Given the description of an element on the screen output the (x, y) to click on. 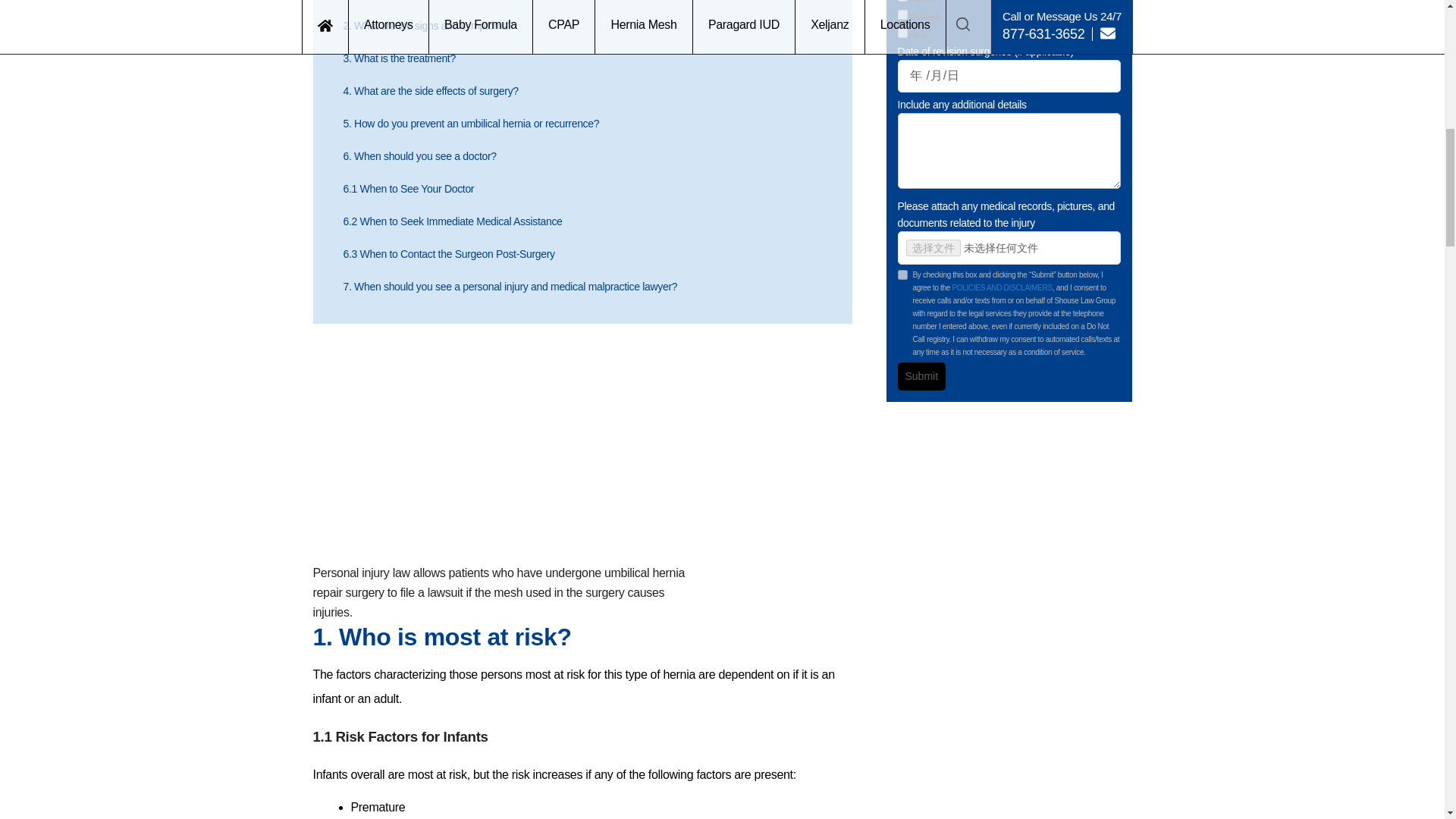
Submit (922, 375)
Other (902, 32)
Submit (716, 143)
1 (902, 275)
Blockage (902, 14)
